Given the description of an element on the screen output the (x, y) to click on. 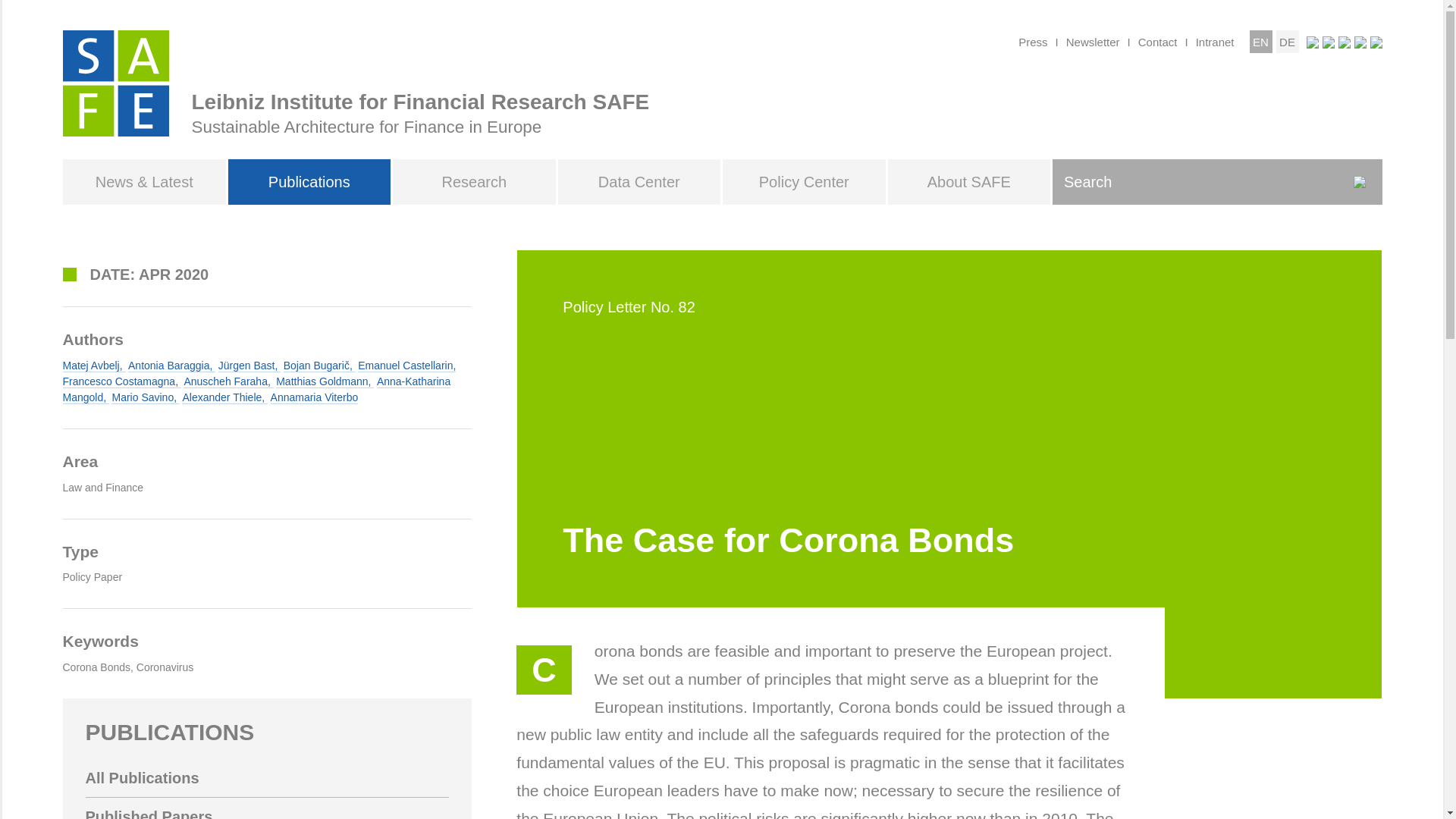
Contact (1157, 41)
Published Papers (266, 808)
Press (1031, 41)
All Publications (266, 777)
Newsletter (1092, 41)
Intranet (1214, 41)
